Given the description of an element on the screen output the (x, y) to click on. 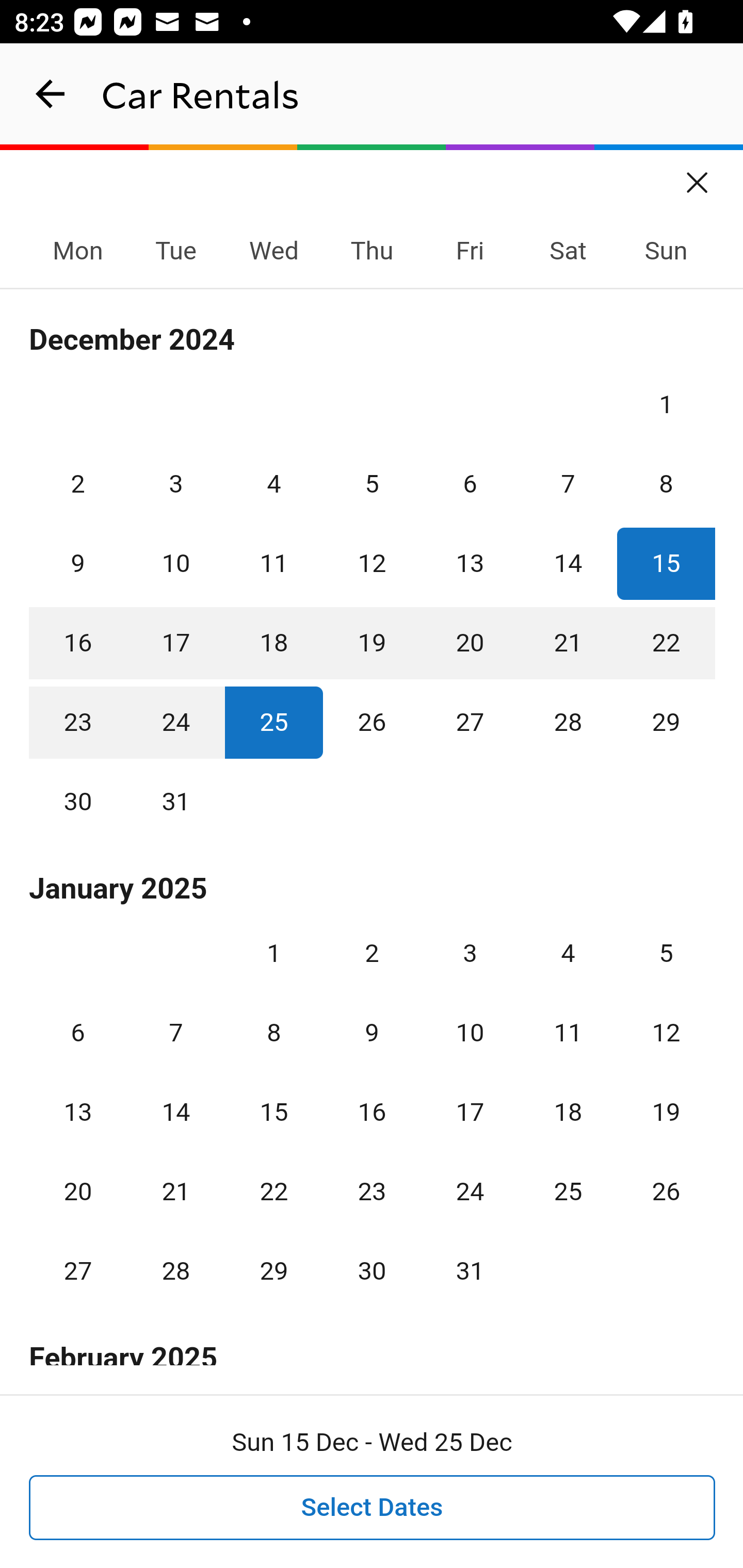
navigation_button (50, 93)
Close (697, 176)
1 December 2024 (665, 404)
2 December 2024 (77, 484)
3 December 2024 (175, 484)
4 December 2024 (273, 484)
5 December 2024 (371, 484)
6 December 2024 (470, 484)
7 December 2024 (567, 484)
8 December 2024 (665, 484)
9 December 2024 (77, 563)
10 December 2024 (175, 563)
11 December 2024 (273, 563)
12 December 2024 (371, 563)
13 December 2024 (470, 563)
14 December 2024 (567, 563)
15 December 2024 (665, 563)
16 December 2024 (77, 642)
17 December 2024 (175, 642)
18 December 2024 (273, 642)
19 December 2024 (371, 642)
20 December 2024 (470, 642)
21 December 2024 (567, 642)
22 December 2024 (665, 642)
23 December 2024 (77, 722)
24 December 2024 (175, 722)
25 December 2024 (273, 722)
26 December 2024 (371, 722)
27 December 2024 (470, 722)
28 December 2024 (567, 722)
29 December 2024 (665, 722)
30 December 2024 (77, 801)
31 December 2024 (175, 801)
1 January 2025 (273, 952)
2 January 2025 (371, 952)
3 January 2025 (470, 952)
4 January 2025 (567, 952)
5 January 2025 (665, 952)
6 January 2025 (77, 1032)
7 January 2025 (175, 1032)
8 January 2025 (273, 1032)
9 January 2025 (371, 1032)
10 January 2025 (470, 1032)
11 January 2025 (567, 1032)
12 January 2025 (665, 1032)
13 January 2025 (77, 1112)
14 January 2025 (175, 1112)
15 January 2025 (273, 1112)
16 January 2025 (371, 1112)
17 January 2025 (470, 1112)
18 January 2025 (567, 1112)
19 January 2025 (665, 1112)
20 January 2025 (77, 1191)
21 January 2025 (175, 1191)
22 January 2025 (273, 1191)
23 January 2025 (371, 1191)
24 January 2025 (470, 1191)
25 January 2025 (567, 1191)
26 January 2025 (665, 1191)
27 January 2025 (77, 1271)
28 January 2025 (175, 1271)
29 January 2025 (273, 1271)
30 January 2025 (371, 1271)
31 January 2025 (470, 1271)
Select Dates (372, 1508)
